Given the description of an element on the screen output the (x, y) to click on. 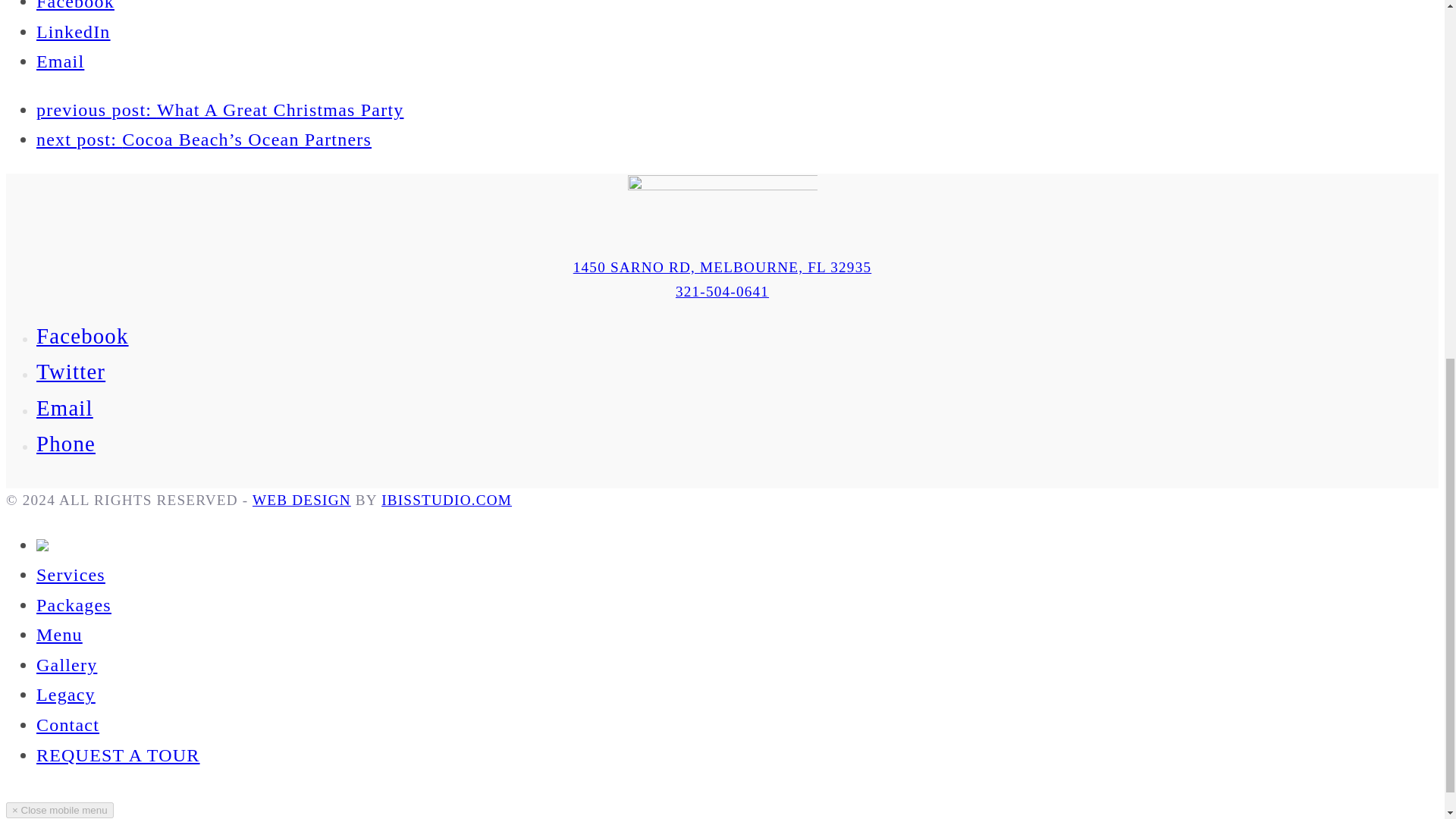
Facebook (75, 5)
Email (64, 407)
LinkedIn (73, 31)
Phone (66, 443)
Contact (67, 724)
Facebook (82, 335)
321-504-0641 (721, 291)
Services (70, 574)
Twitter (70, 371)
Email (60, 61)
